Given the description of an element on the screen output the (x, y) to click on. 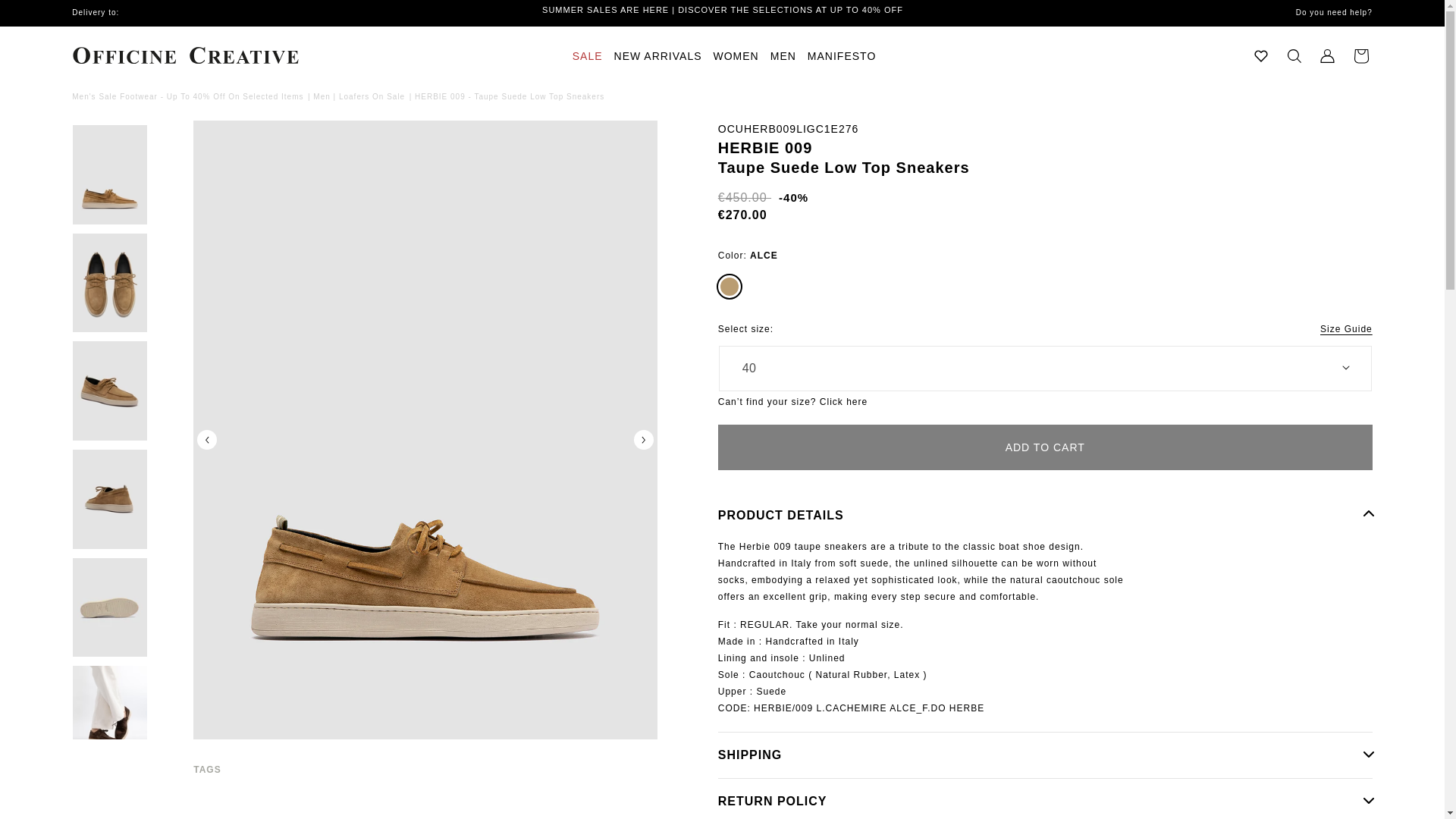
Do you need help? (1295, 12)
ALCE (729, 286)
Like Love SVG File (1260, 56)
